Given the description of an element on the screen output the (x, y) to click on. 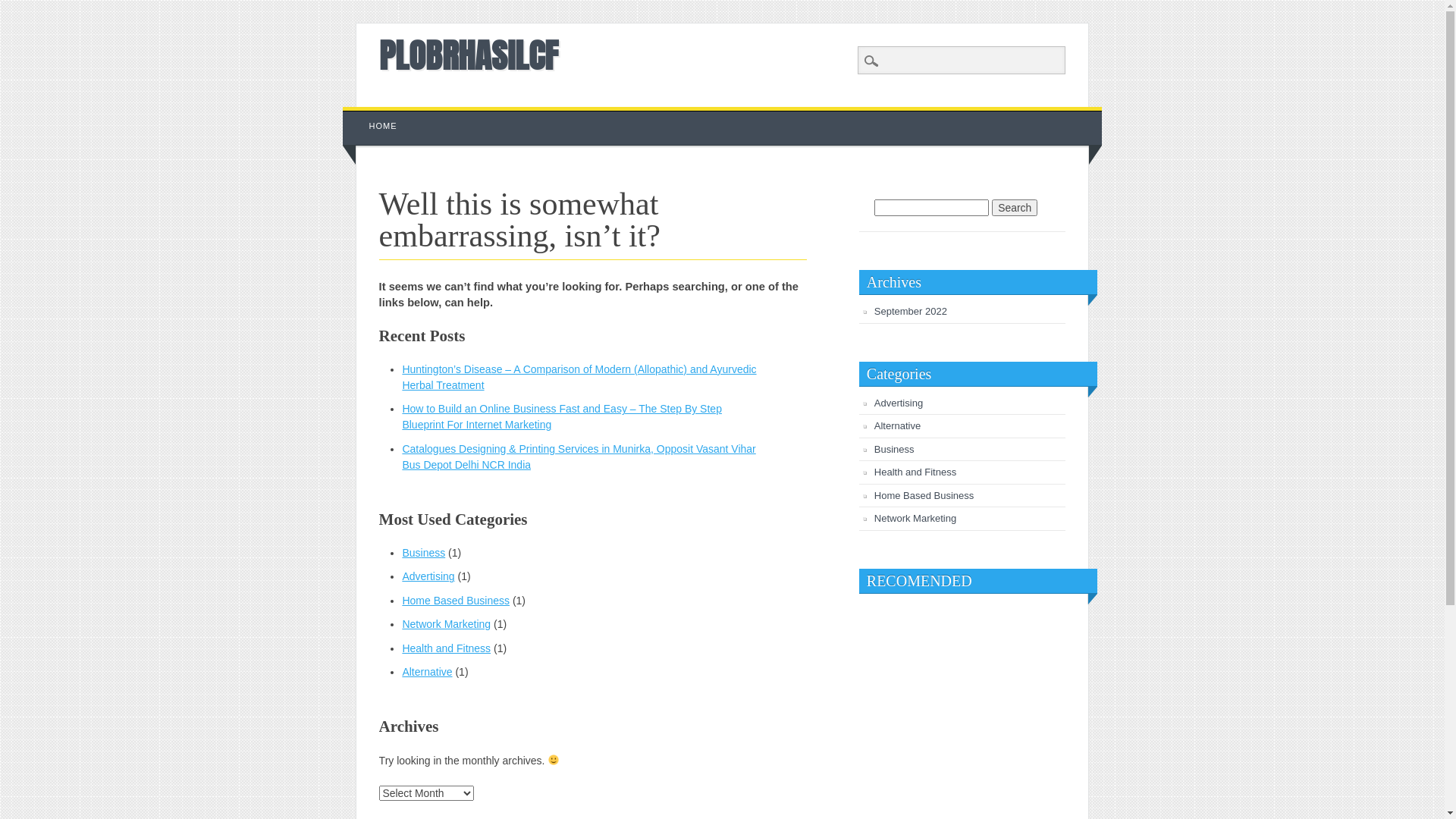
PLOBRHASILCF Element type: text (468, 55)
Network Marketing Element type: text (915, 518)
Alternative Element type: text (897, 425)
Search Element type: text (1014, 207)
Alternative Element type: text (426, 671)
Health and Fitness Element type: text (915, 471)
Home Based Business Element type: text (924, 495)
Network Marketing Element type: text (445, 624)
Health and Fitness Element type: text (445, 648)
Business Element type: text (423, 552)
Advertising Element type: text (898, 402)
Search Element type: text (22, 8)
Advertising Element type: text (427, 576)
Business Element type: text (894, 449)
September 2022 Element type: text (910, 310)
HOME Element type: text (383, 125)
Skip to content Element type: text (377, 114)
Home Based Business Element type: text (455, 600)
